Given the description of an element on the screen output the (x, y) to click on. 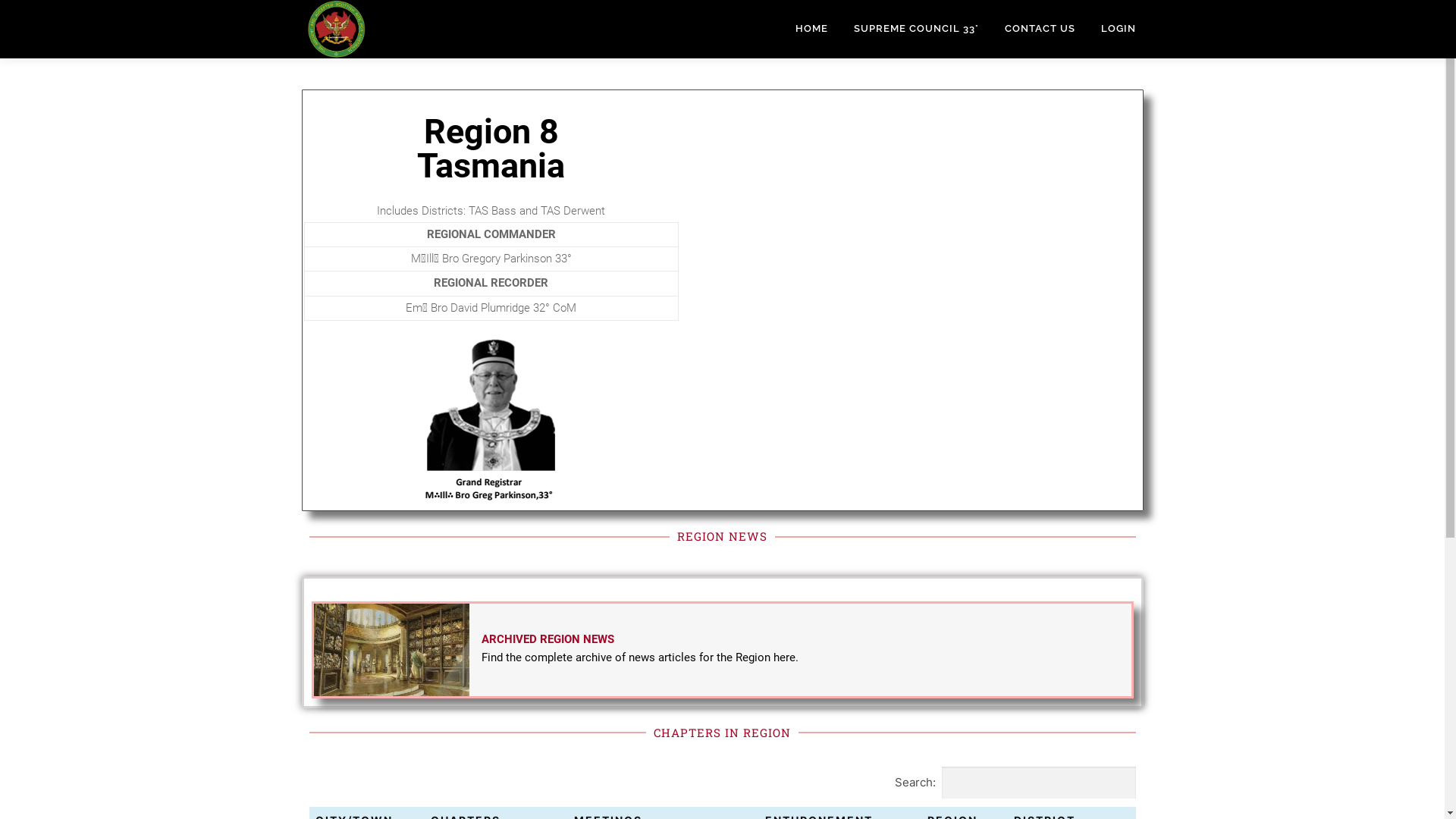
ARCHIVED REGION NEWS Element type: text (547, 639)
HOME Element type: text (811, 29)
CONTACT US Element type: text (1039, 29)
LOGIN Element type: text (1118, 29)
